Given the description of an element on the screen output the (x, y) to click on. 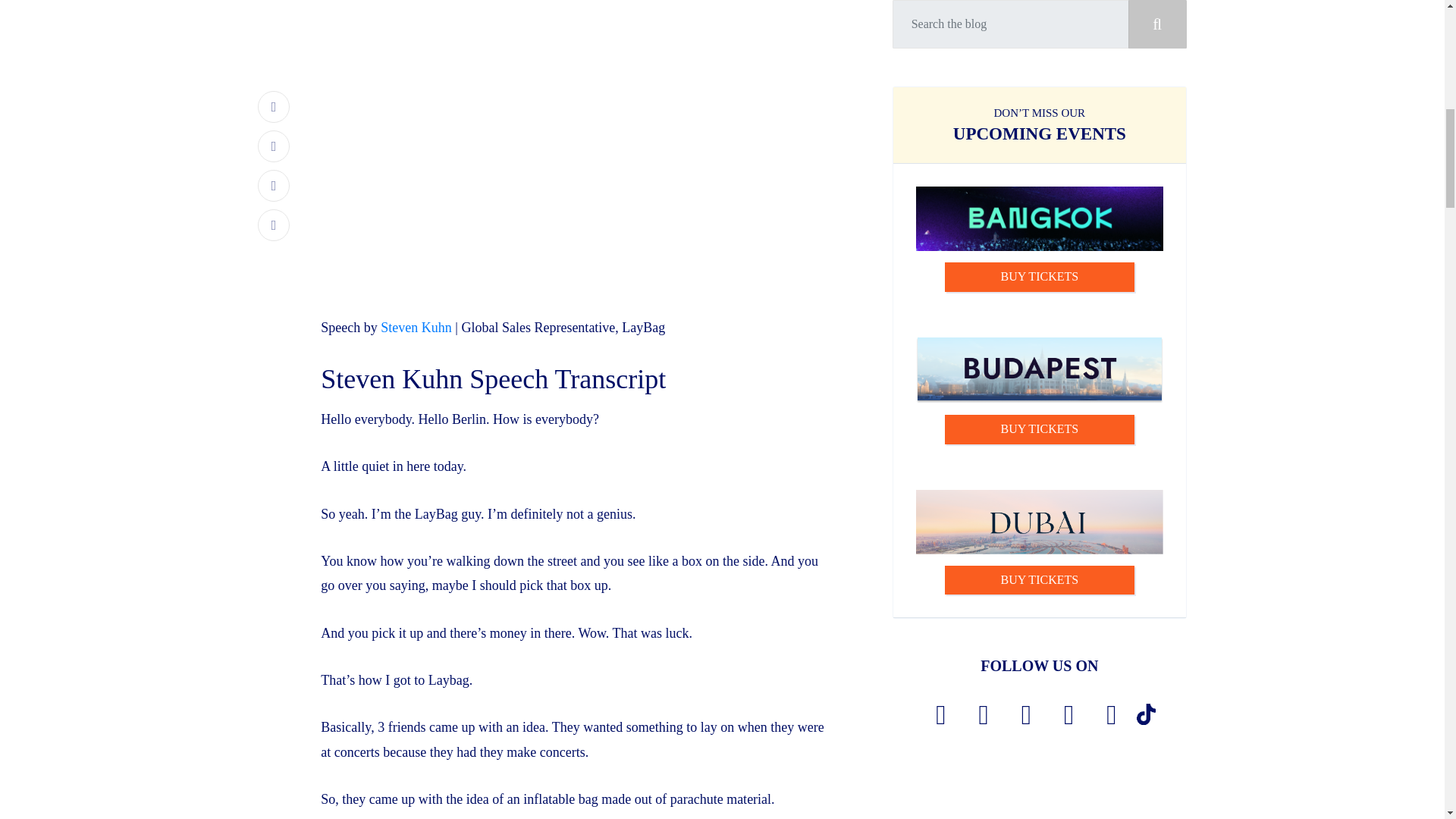
Steven Kuhn (415, 327)
